Given the description of an element on the screen output the (x, y) to click on. 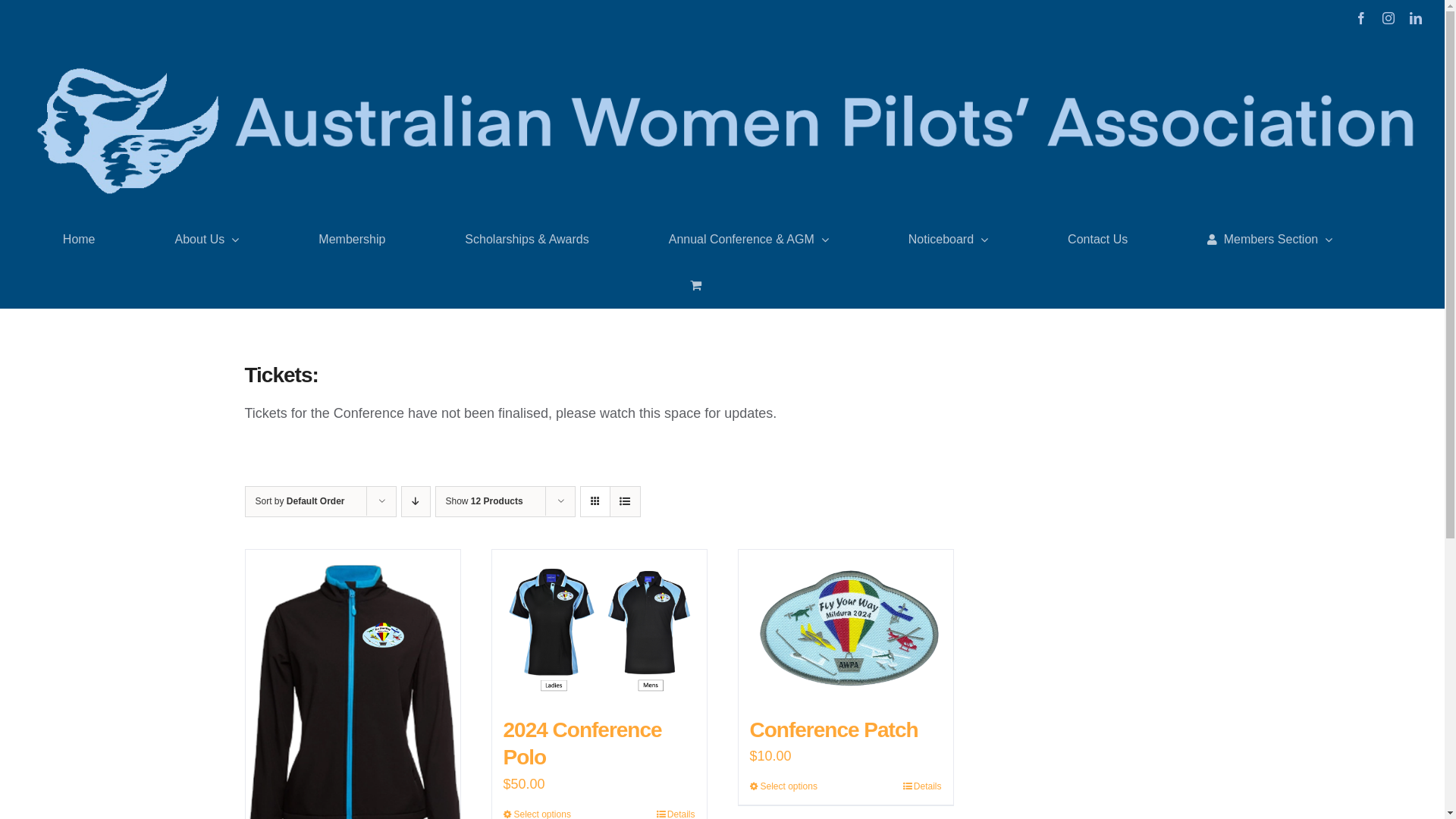
LinkedIn Element type: text (1415, 18)
Facebook Element type: text (1361, 18)
Annual Conference & AGM Element type: text (748, 239)
Select options Element type: text (782, 786)
About Us Element type: text (207, 239)
Instagram Element type: text (1388, 18)
Conference Patch Element type: text (833, 728)
Details Element type: text (922, 786)
Home Element type: text (78, 239)
Members Section Element type: text (1269, 239)
Membership Element type: text (351, 239)
2024 Conference Polo Element type: text (582, 743)
Contact Us Element type: text (1097, 239)
Noticeboard Element type: text (948, 239)
Scholarships & Awards Element type: text (526, 239)
Sort by Default Order Element type: text (299, 500)
Show 12 Products Element type: text (484, 500)
